Given the description of an element on the screen output the (x, y) to click on. 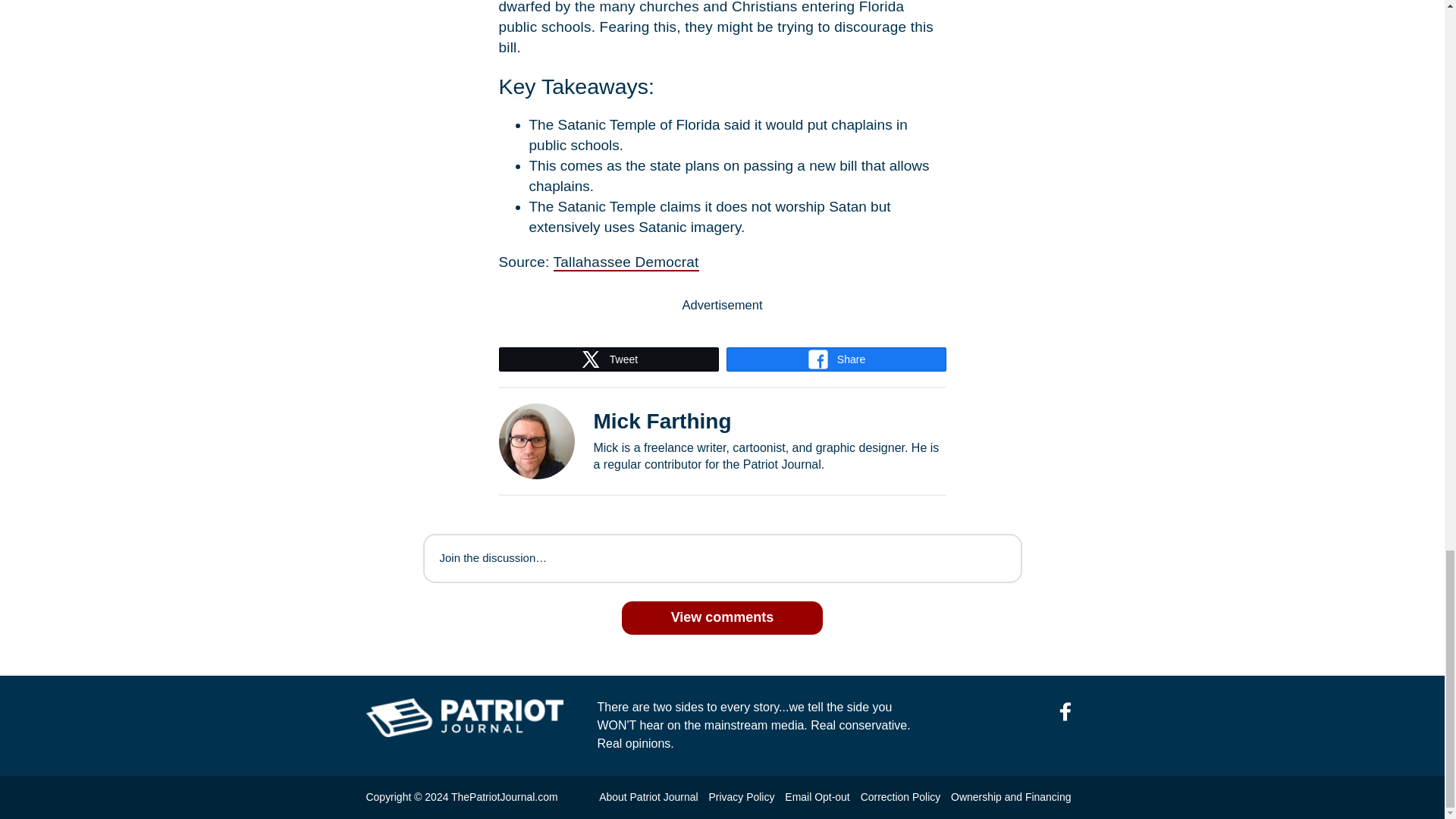
Ownership and Financing (1010, 797)
Privacy Policy (740, 797)
Tweet (608, 359)
View comments (722, 617)
Email Opt-out (816, 797)
ThePatriotJournal.com (504, 797)
About Patriot Journal (647, 797)
Correction Policy (900, 797)
Tallahassee Democrat (625, 262)
Share (835, 359)
